Given the description of an element on the screen output the (x, y) to click on. 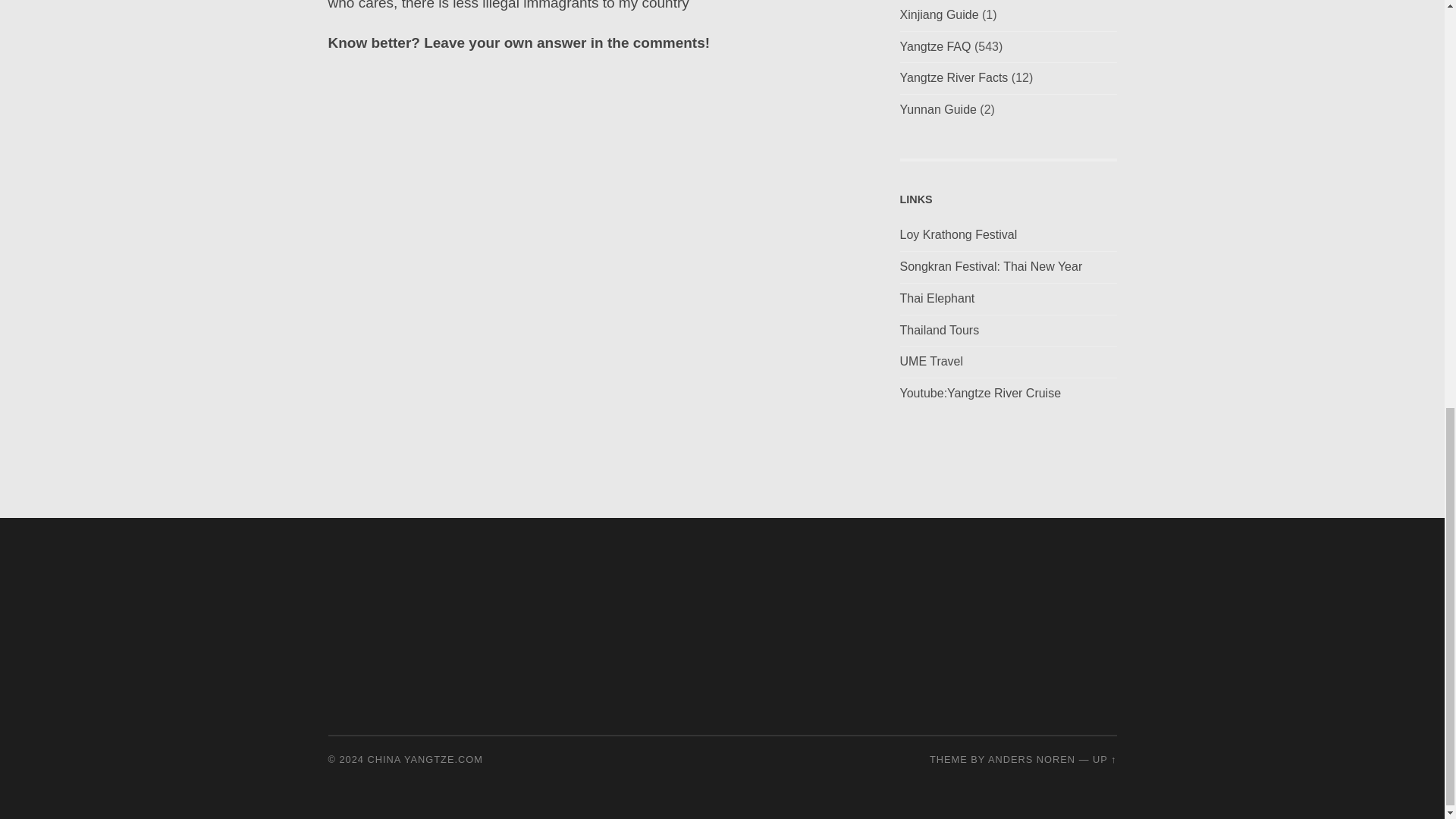
Thailand Tours (938, 329)
Yangtze River Facts (953, 77)
To the top (1104, 758)
Thai Elephant (936, 297)
Youtube:Yangtze River Cruise (980, 392)
Yangtze FAQ (935, 46)
Yunnan Guide (937, 109)
Songkran Festival: Thai New Year (990, 266)
Xinjiang Guide (938, 14)
Loy Krathong Festival (957, 234)
UME Travel (930, 360)
